Given the description of an element on the screen output the (x, y) to click on. 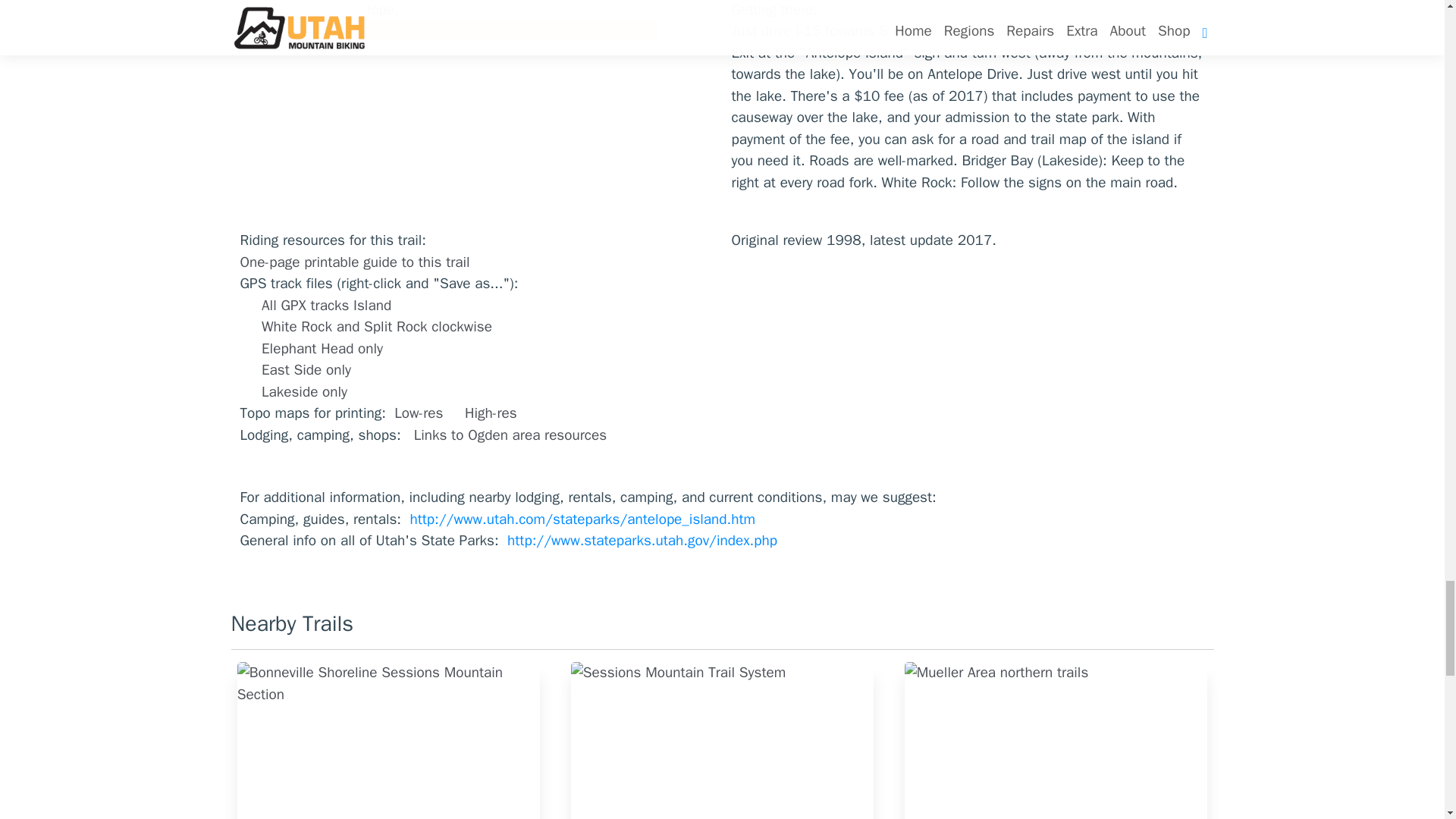
One-page printable guide to this trail (354, 262)
Links to Ogden area resources (510, 434)
High-res (490, 413)
Elephant Head only (322, 348)
Low-res (420, 413)
All GPX tracks Island (326, 305)
East Side only (306, 370)
Lakeside only (304, 392)
White Rock and Split Rock clockwise (377, 326)
